Given the description of an element on the screen output the (x, y) to click on. 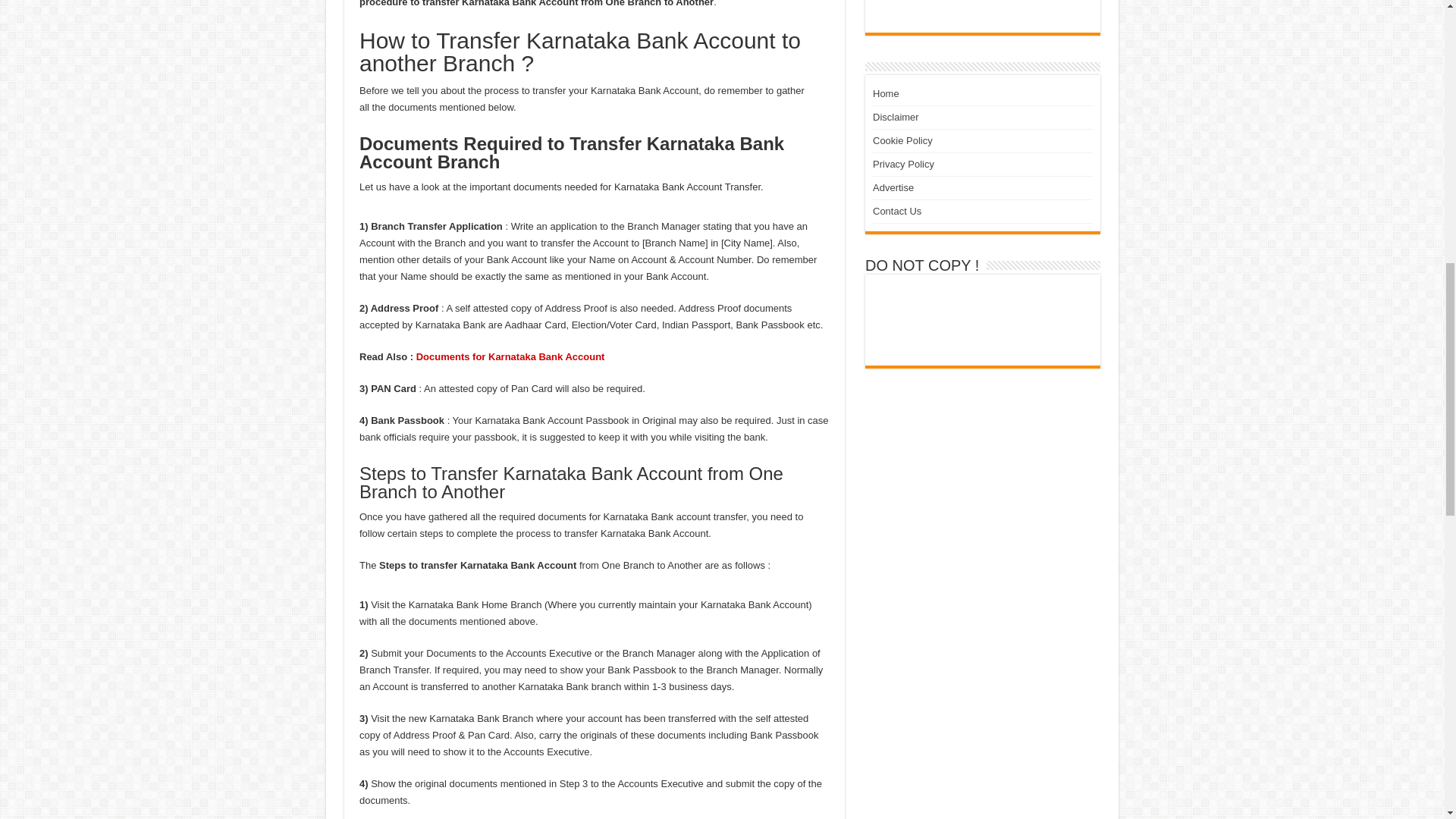
Documents for Karnataka Bank Account (510, 356)
Scroll To Top (1421, 60)
Advertisement (982, 12)
